Given the description of an element on the screen output the (x, y) to click on. 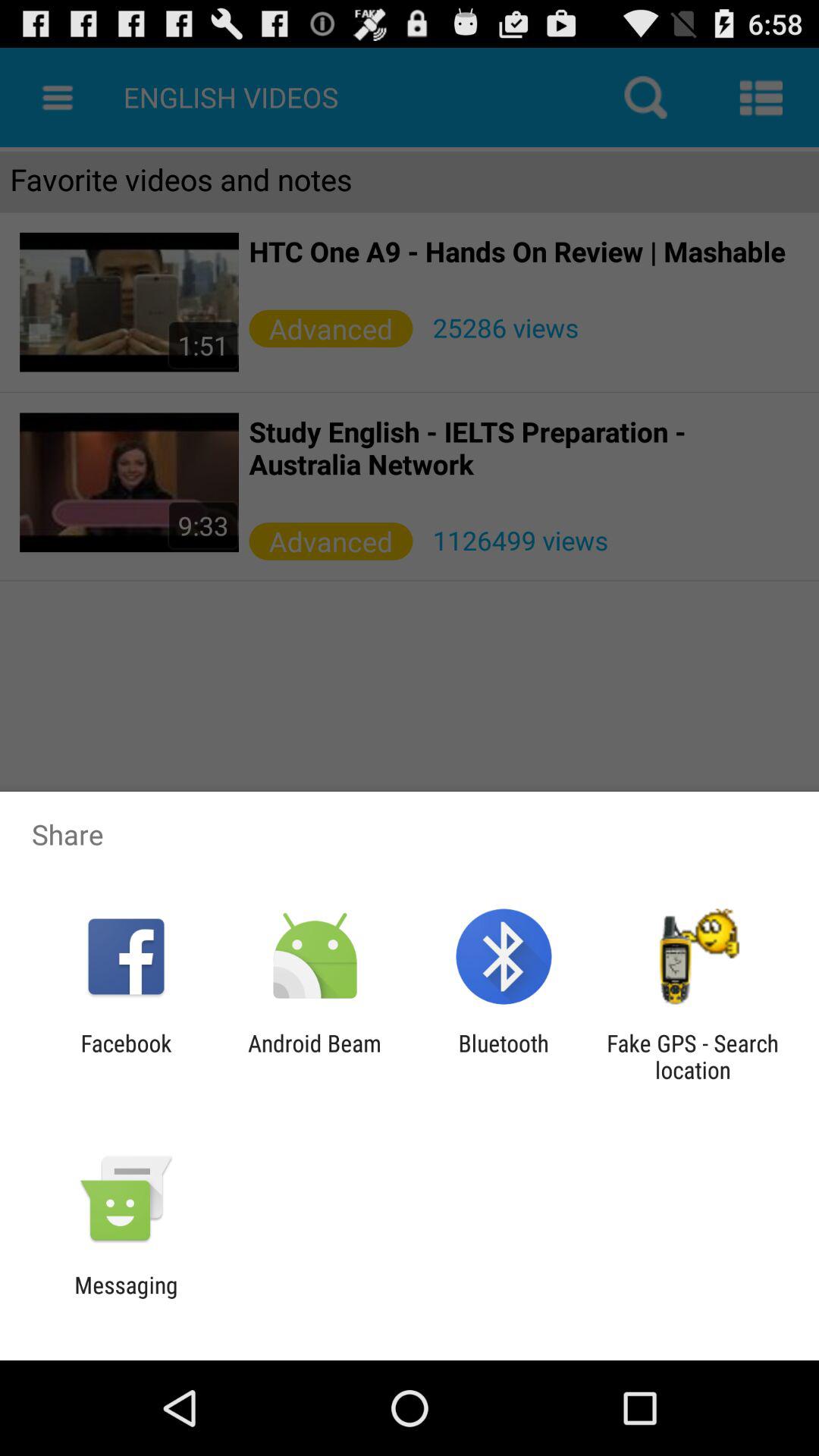
turn on fake gps search icon (692, 1056)
